Given the description of an element on the screen output the (x, y) to click on. 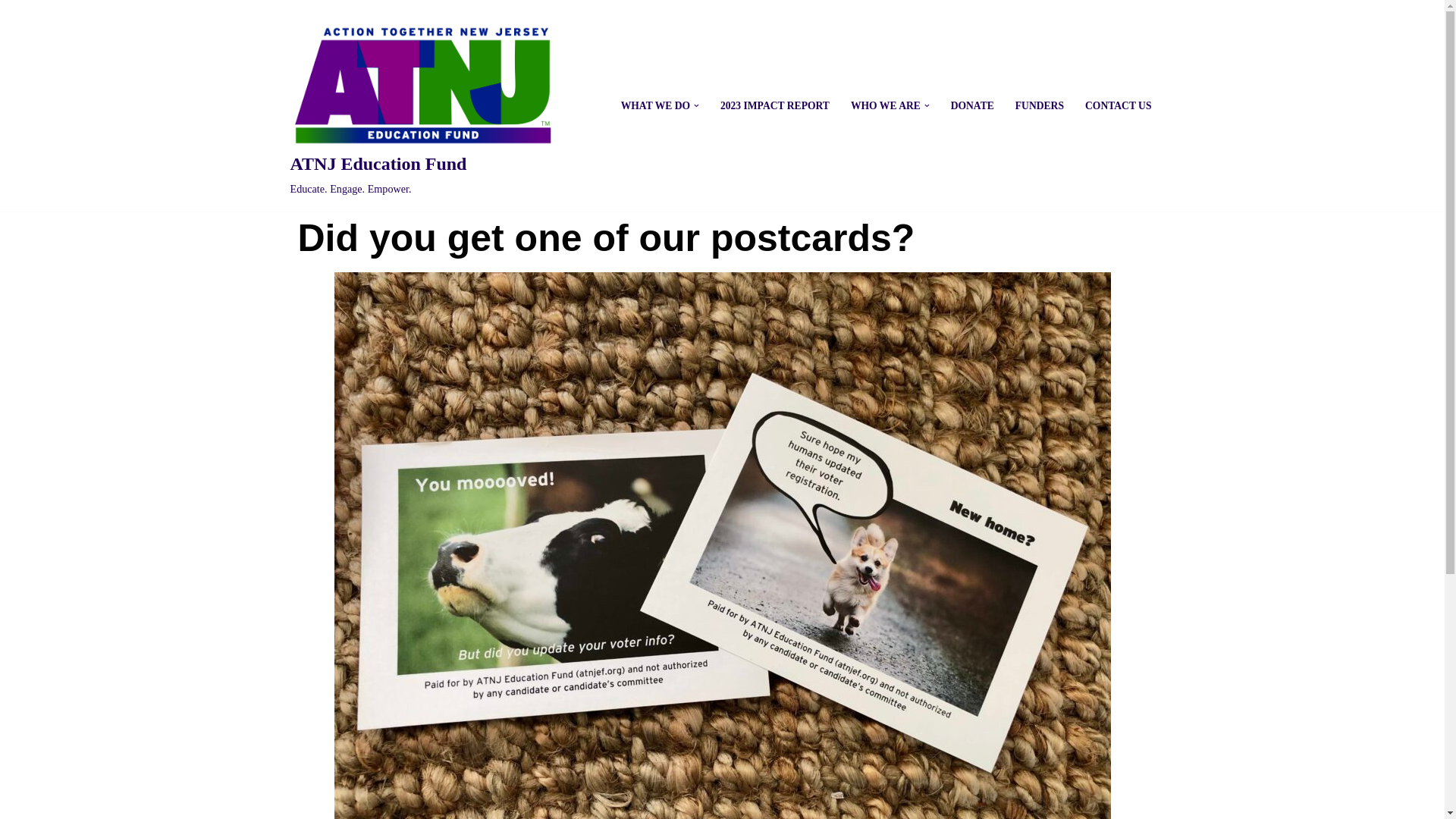
FUNDERS (1039, 105)
Skip to content (11, 31)
2023 IMPACT REPORT (774, 105)
CONTACT US (1117, 105)
WHO WE ARE (885, 105)
DONATE (972, 105)
WHAT WE DO (421, 105)
